Given the description of an element on the screen output the (x, y) to click on. 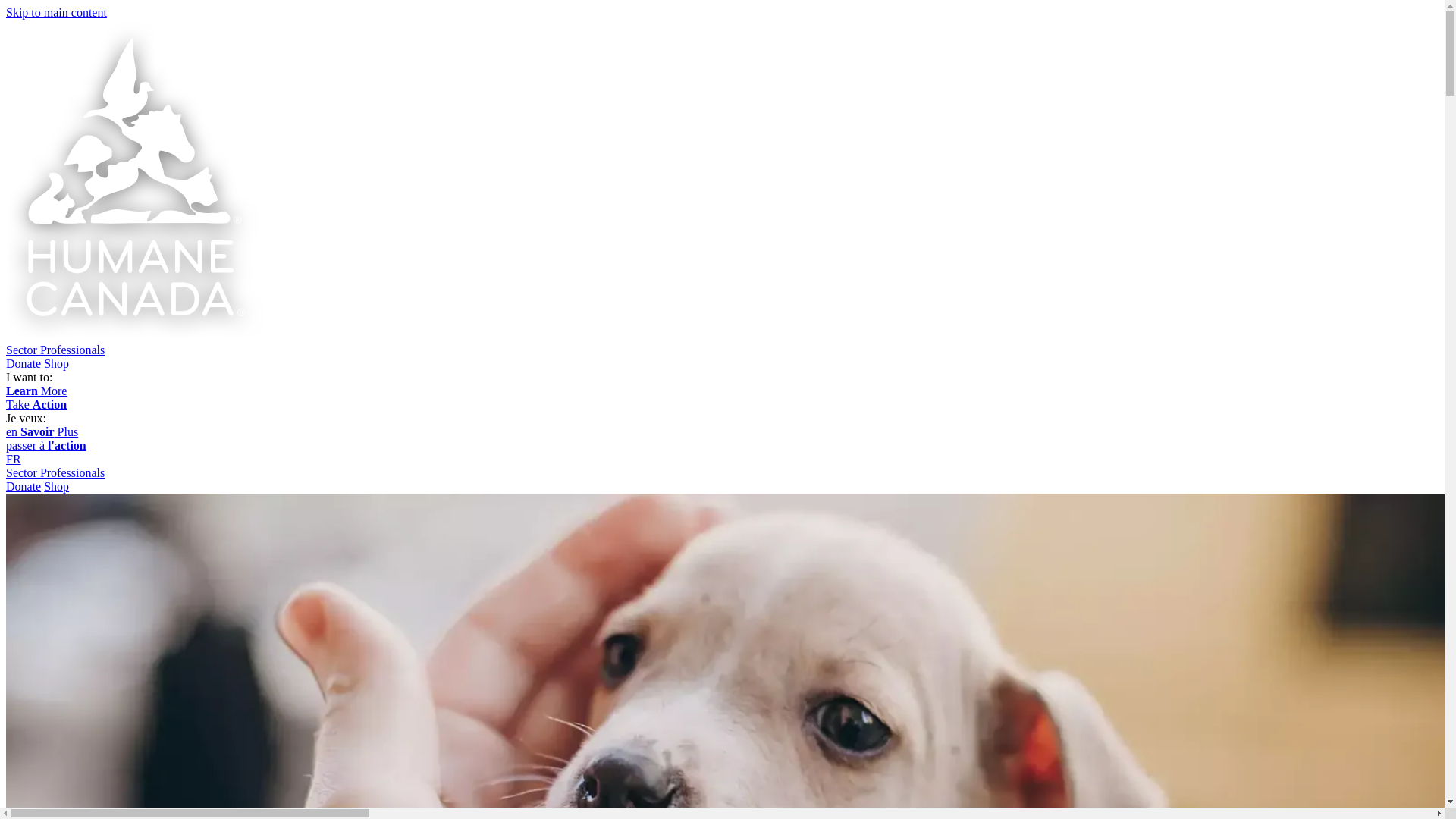
Sector Professionals (54, 472)
Skip to main content (55, 11)
Donate (22, 486)
FR (13, 459)
Shop (55, 363)
Shop (55, 486)
Donate (22, 363)
Sector Professionals (54, 349)
